Given the description of an element on the screen output the (x, y) to click on. 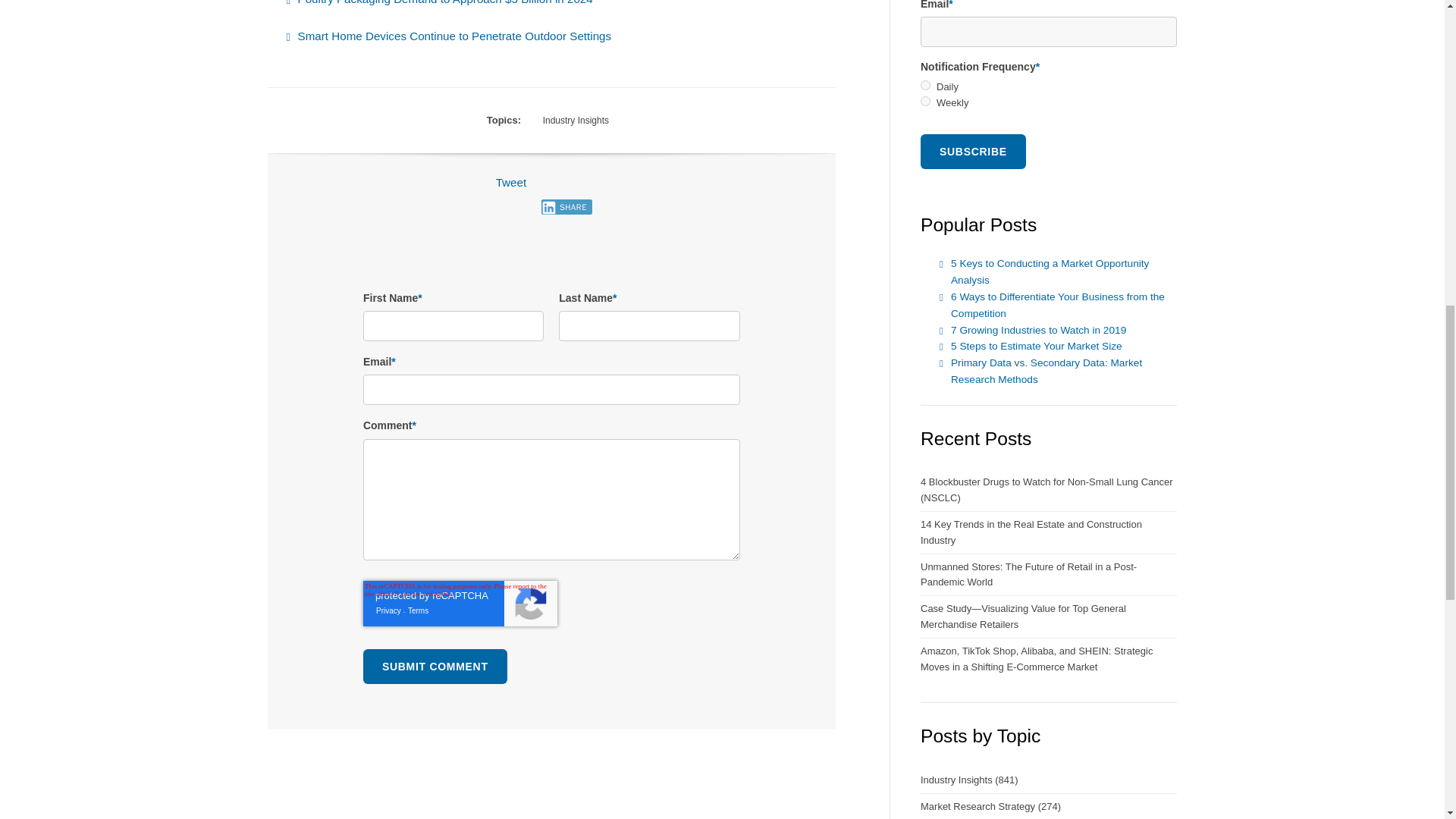
reCAPTCHA (459, 603)
Industry Insights (575, 120)
Subscribe (973, 151)
daily (925, 85)
14 Key Trends in the Real Estate and Construction Industry (1048, 532)
Submit Comment (434, 666)
Subscribe (973, 151)
SHARE (566, 206)
5 Steps to Estimate Your Market Size (1036, 346)
